Given the description of an element on the screen output the (x, y) to click on. 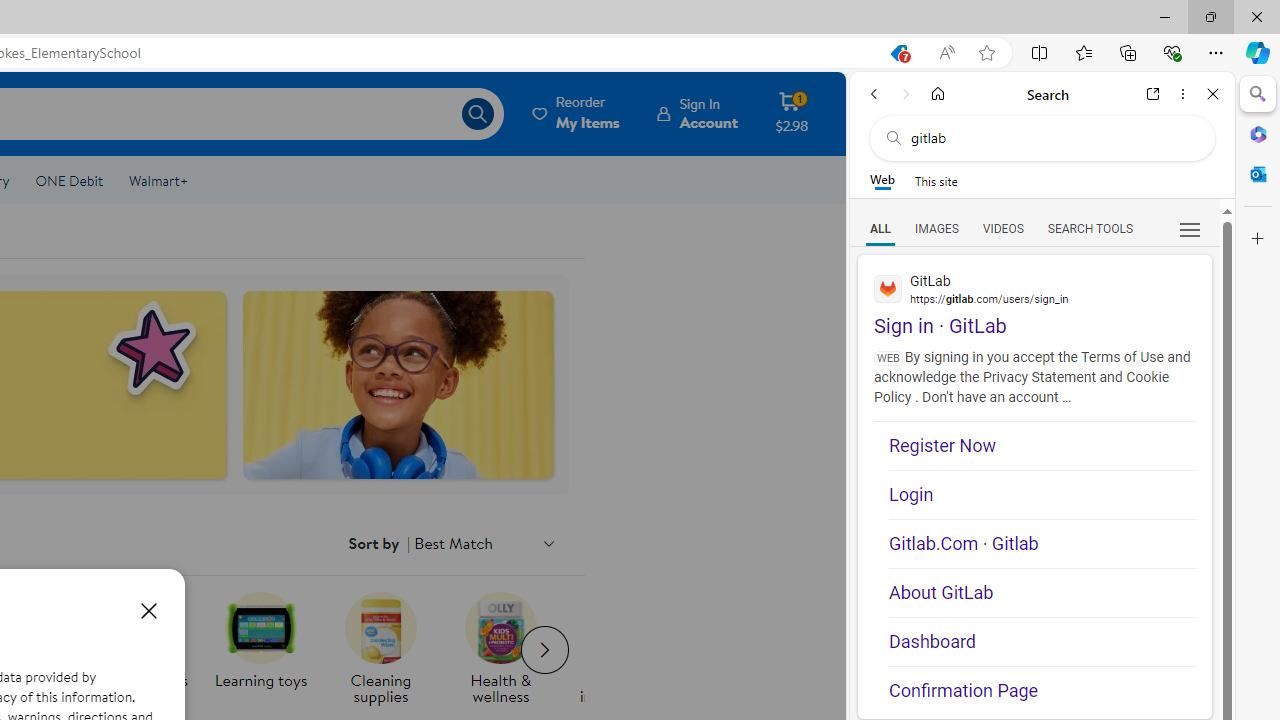
IMAGES (936, 228)
About GitLab (1042, 592)
